Given the description of an element on the screen output the (x, y) to click on. 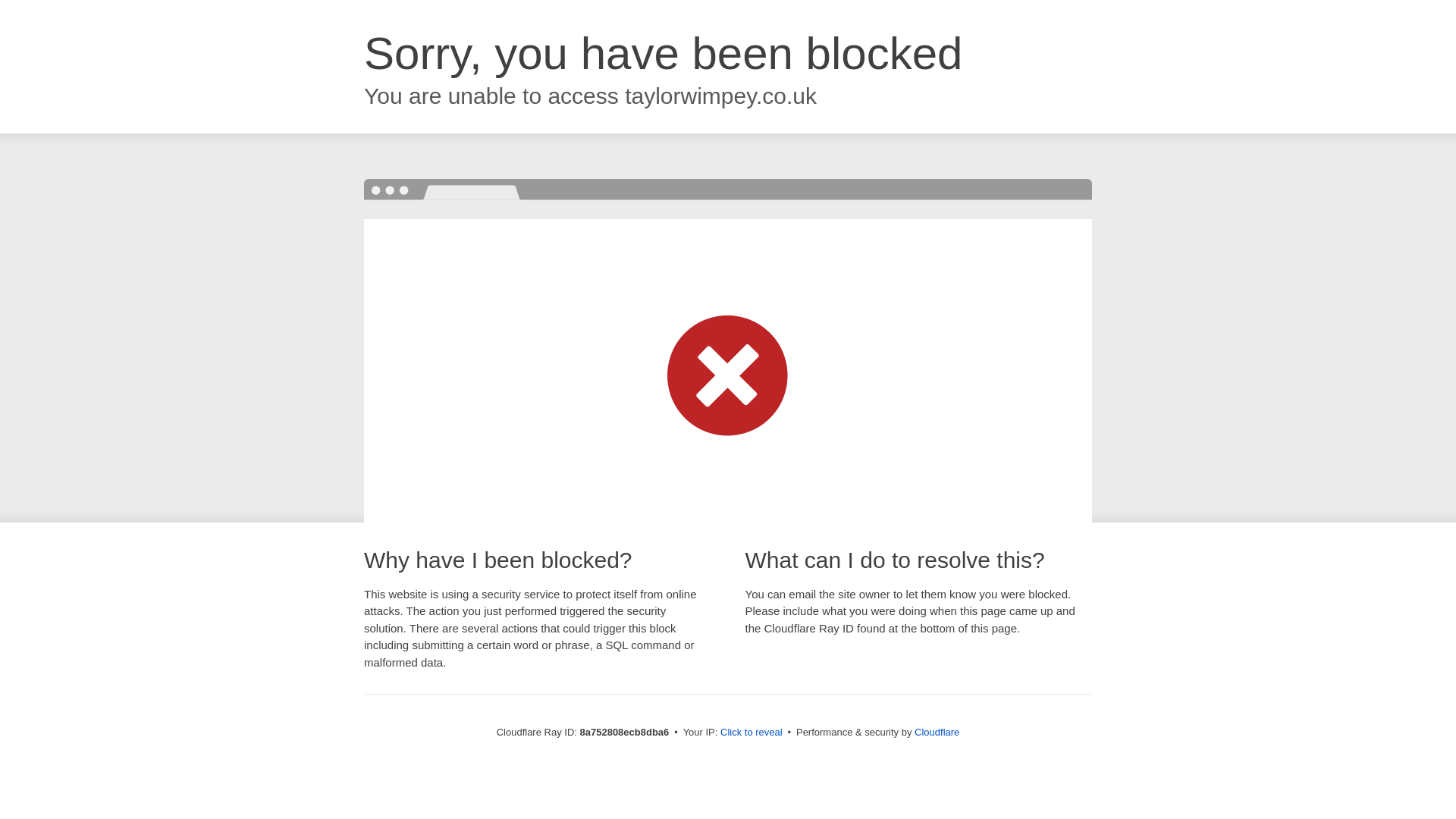
Cloudflare (936, 731)
Click to reveal (751, 732)
